Given the description of an element on the screen output the (x, y) to click on. 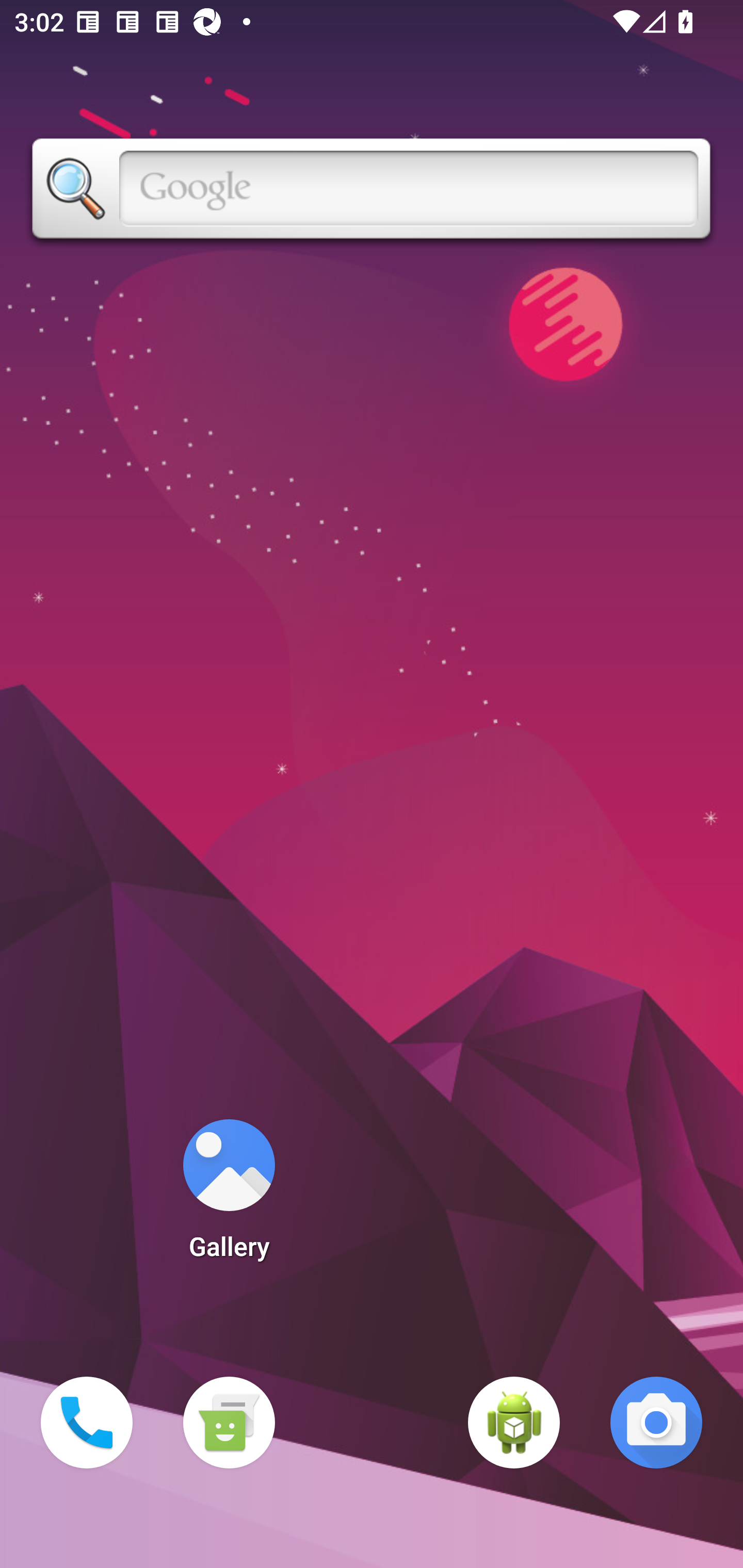
Gallery (228, 1195)
Phone (86, 1422)
Messaging (228, 1422)
WebView Browser Tester (513, 1422)
Camera (656, 1422)
